Given the description of an element on the screen output the (x, y) to click on. 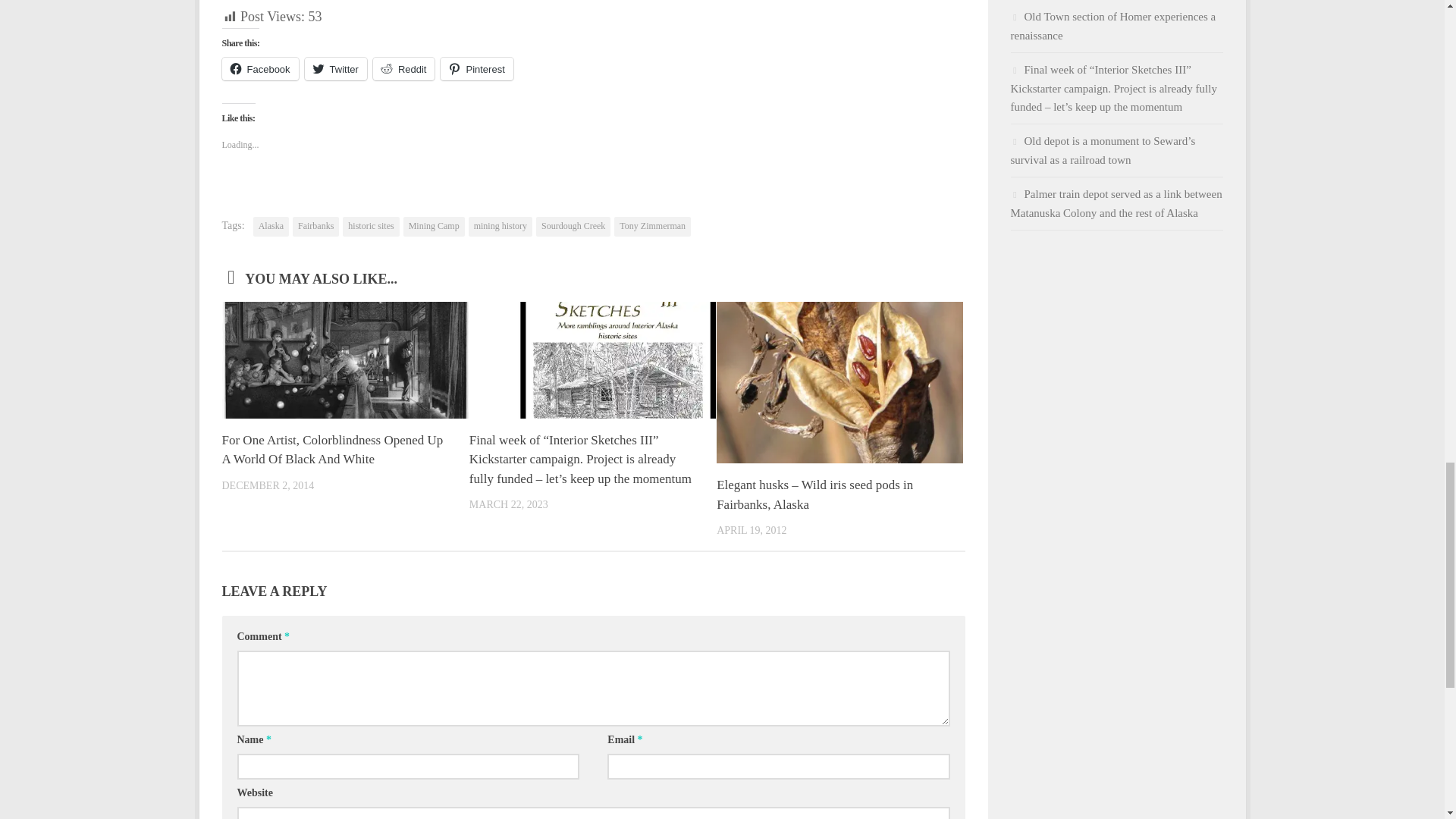
Click to share on Facebook (259, 68)
Click to share on Twitter (335, 68)
Click to share on Reddit (403, 68)
Pinterest (476, 68)
Fairbanks (315, 226)
Reddit (403, 68)
Tony Zimmerman (652, 226)
Mining Camp (433, 226)
Twitter (335, 68)
